Given the description of an element on the screen output the (x, y) to click on. 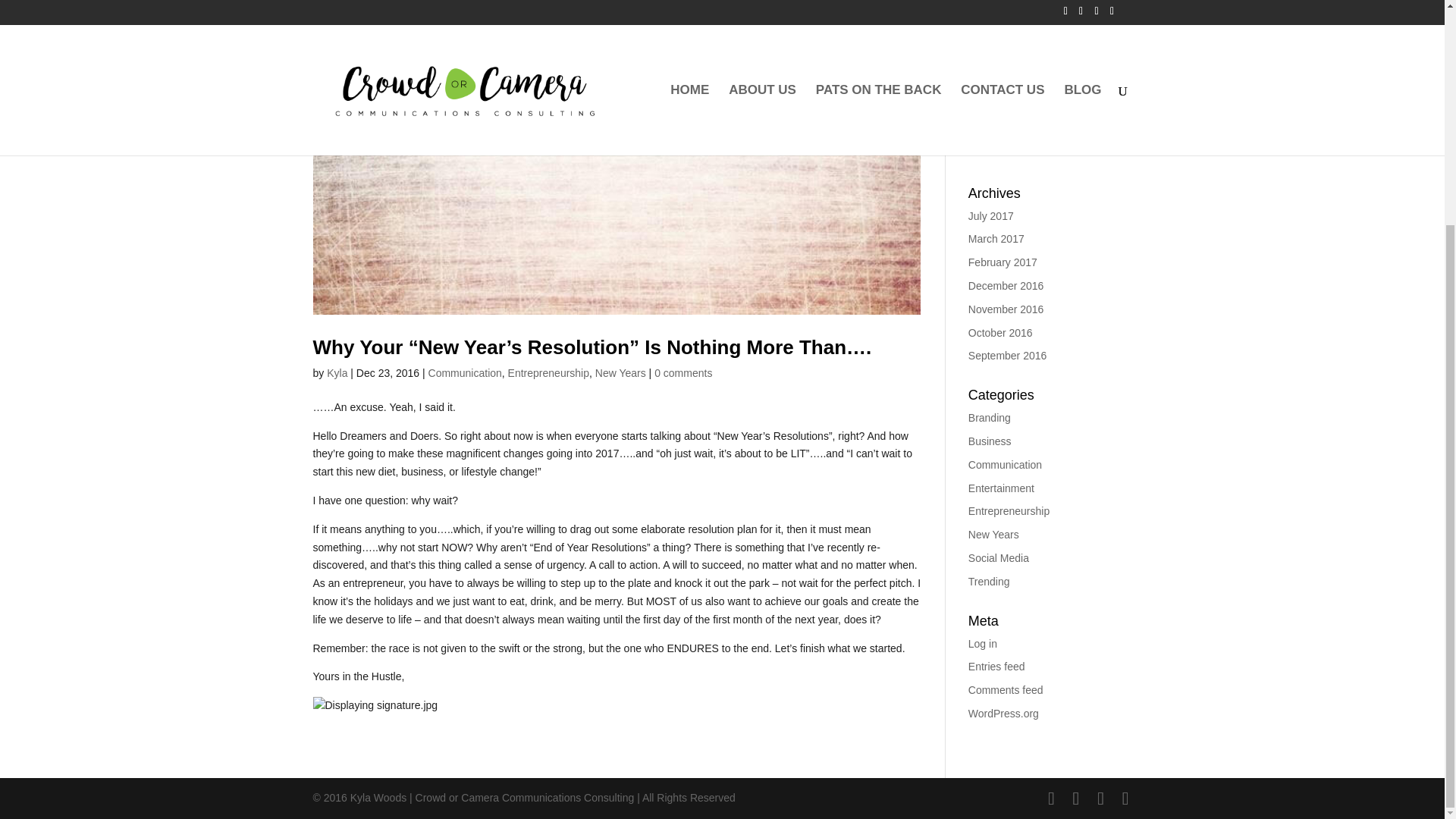
Revisit Your Purpose. Re-Energize Your Path. (1050, 2)
September 2016 (1007, 355)
Put the Social back in Media (1035, 110)
Communication (1005, 464)
Communication with a Curve (1035, 21)
December 2016 (1005, 285)
0 comments (682, 372)
November 2016 (1005, 309)
Entrepreneurship (1008, 510)
Entertainment (1000, 488)
She Woke Up Like This (1023, 44)
Entrepreneurship (548, 372)
Branding (989, 417)
Business (989, 440)
Kyla (336, 372)
